Given the description of an element on the screen output the (x, y) to click on. 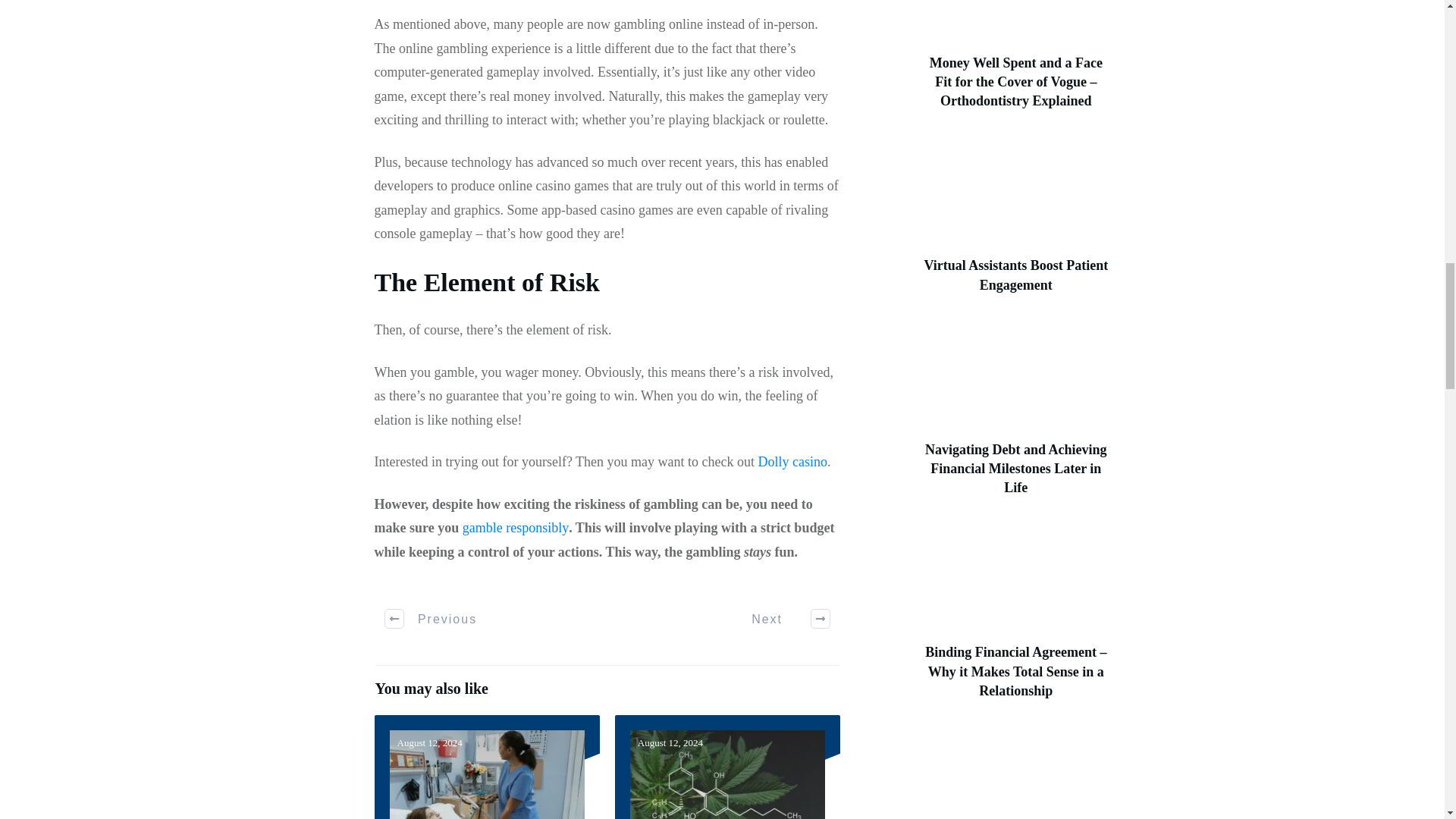
Previous (430, 618)
gamble responsibly (516, 527)
Next (782, 618)
Enhancing Patient Monitoring with Advanced DAQ Systems (486, 766)
Dolly casino (793, 461)
